Given the description of an element on the screen output the (x, y) to click on. 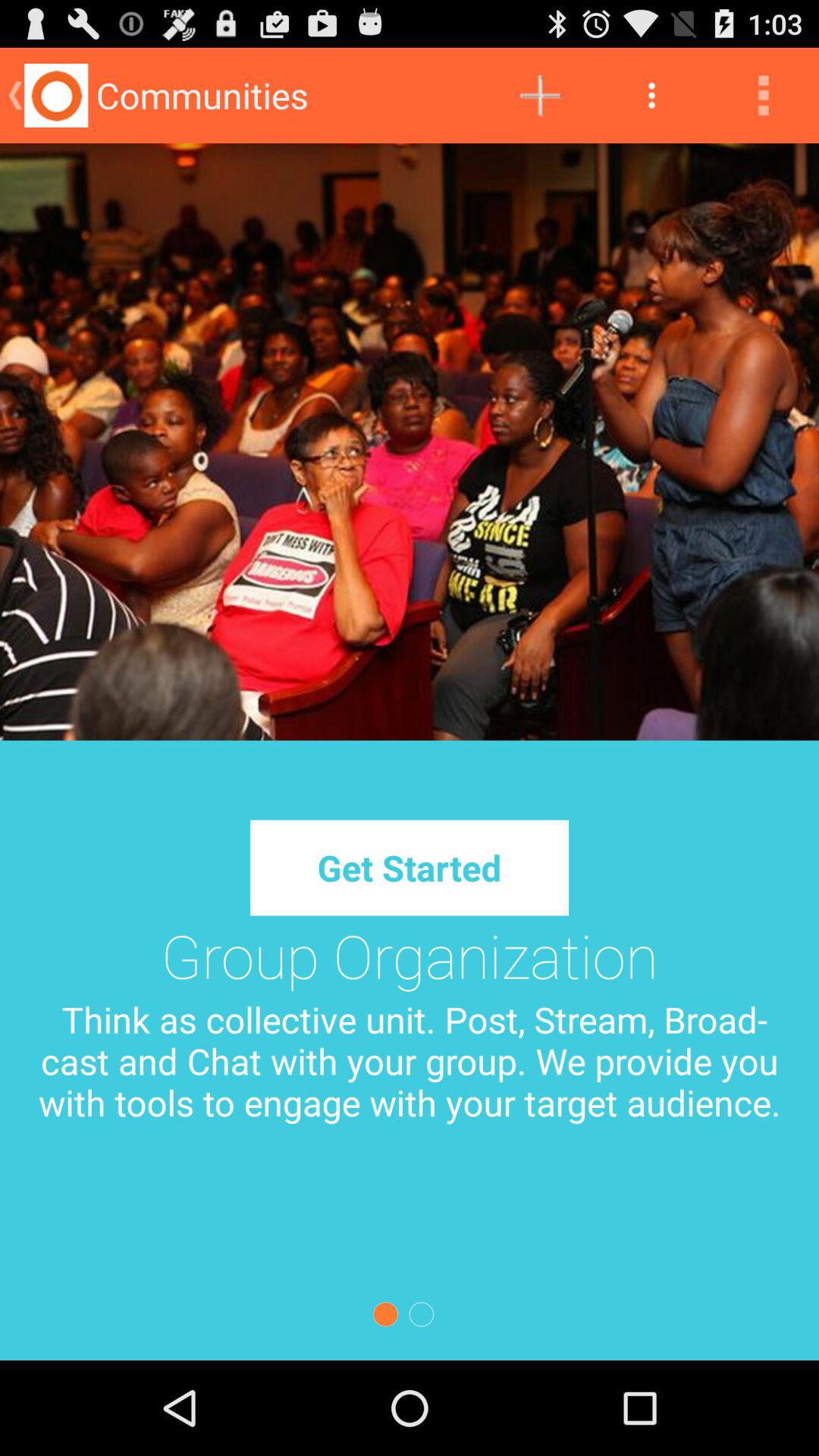
choose icon to the right of the communities app (540, 95)
